Given the description of an element on the screen output the (x, y) to click on. 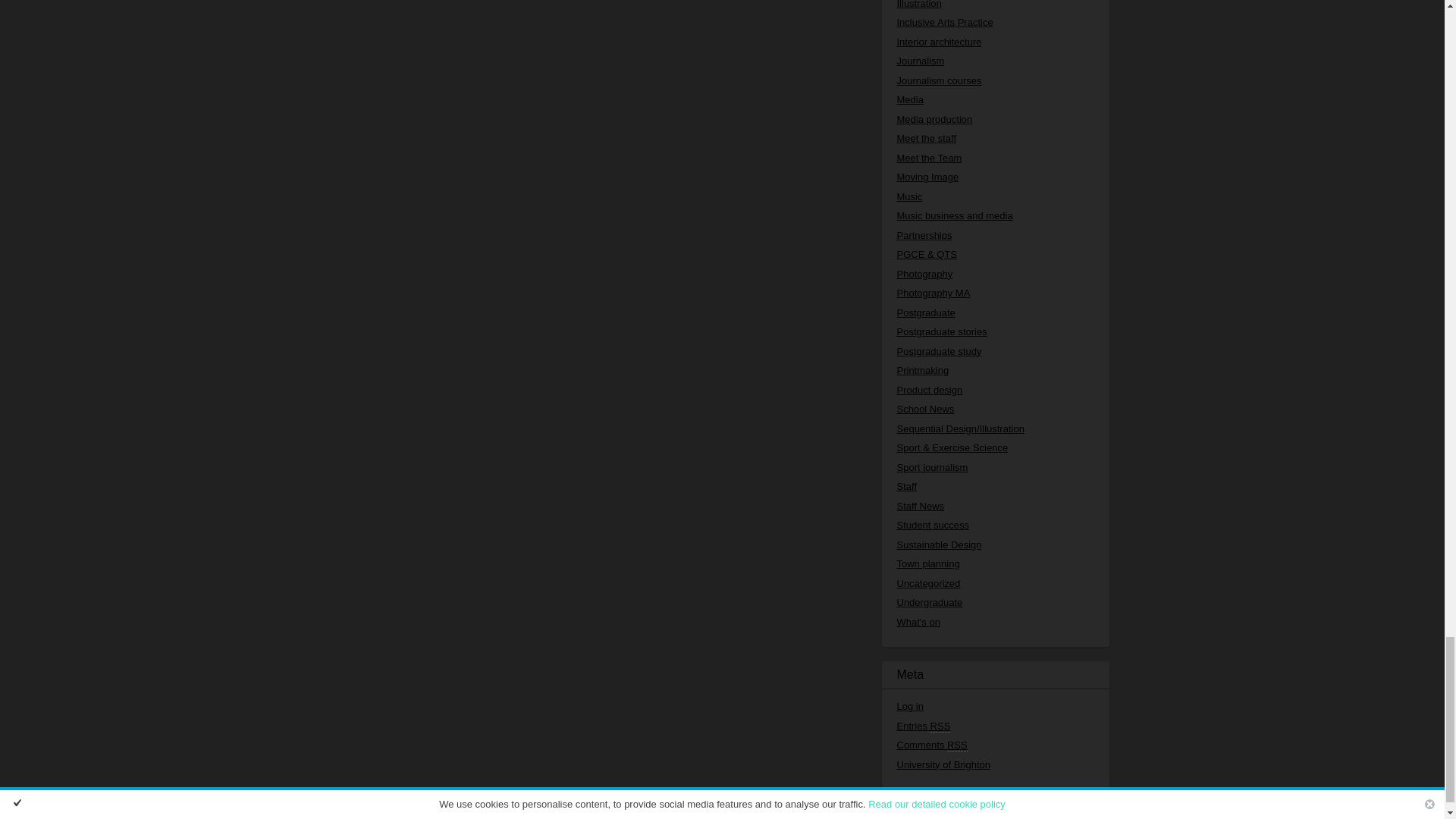
The latest comments to all posts in RSS (931, 745)
Powered by University of Brighton (943, 764)
Really Simple Syndication (940, 725)
Really Simple Syndication (957, 745)
Syndicate this site using RSS 2.0 (923, 725)
